Given the description of an element on the screen output the (x, y) to click on. 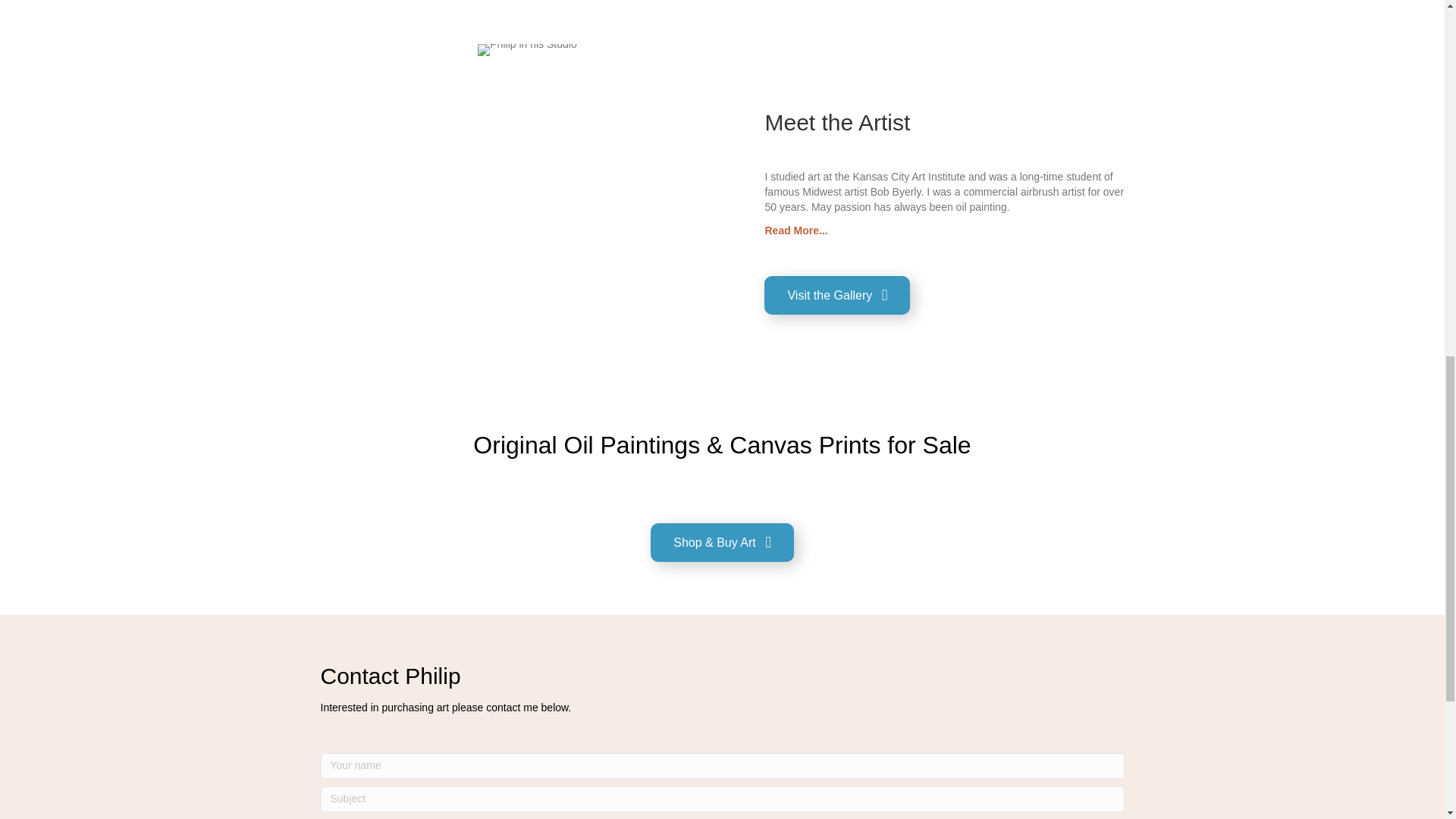
Read More... (795, 230)
In the studio (526, 50)
Visit the Gallery (837, 295)
